Given the description of an element on the screen output the (x, y) to click on. 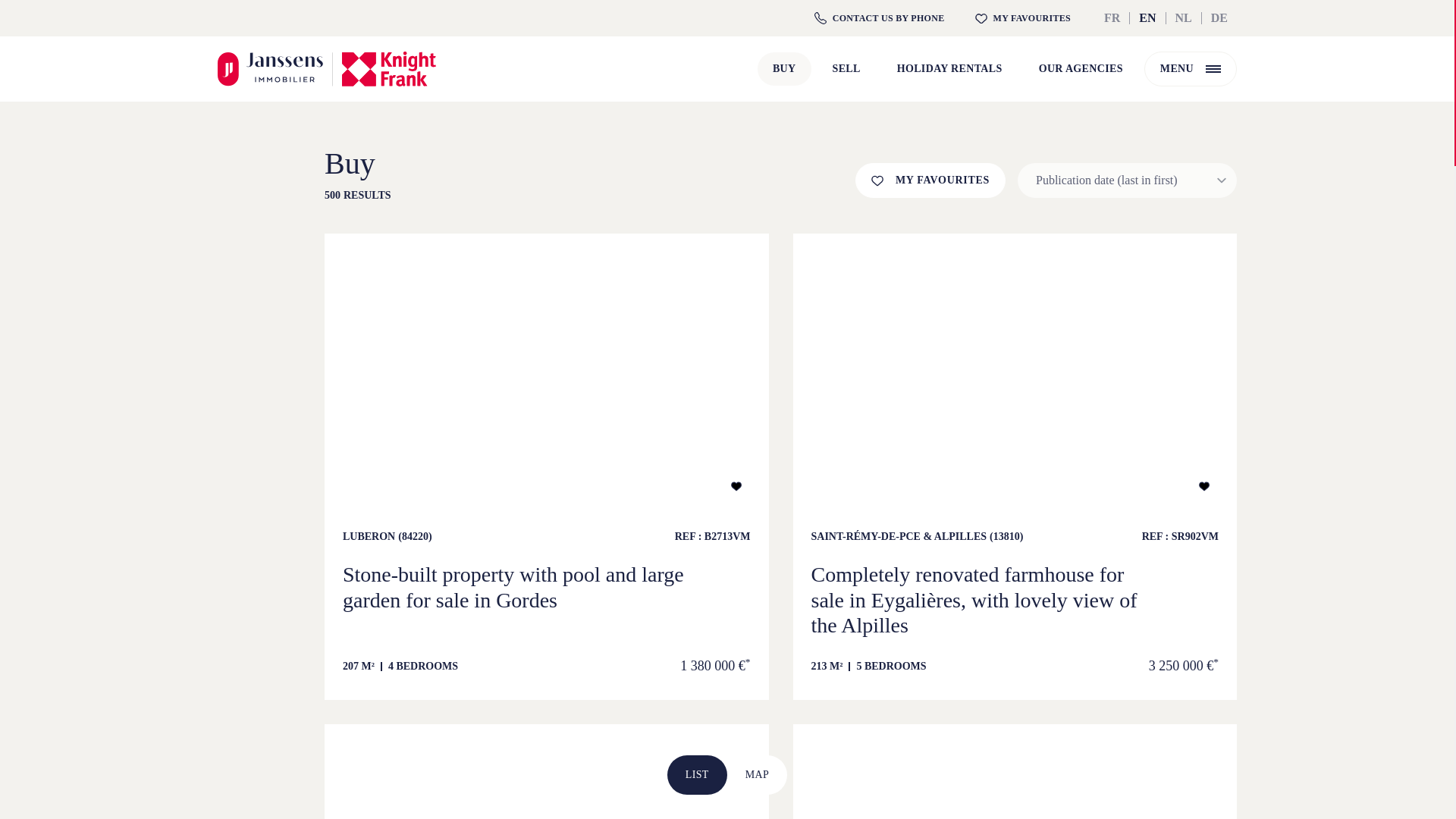
EN (1147, 18)
NL (1183, 18)
DE (1219, 18)
CONTACT US BY PHONE (879, 18)
BUY (783, 68)
HOLIDAY RENTALS (949, 68)
MENU (1190, 68)
OUR AGENCIES (1080, 68)
SELL (846, 68)
MY FAVOURITES (1023, 18)
FR (1111, 18)
